Given the description of an element on the screen output the (x, y) to click on. 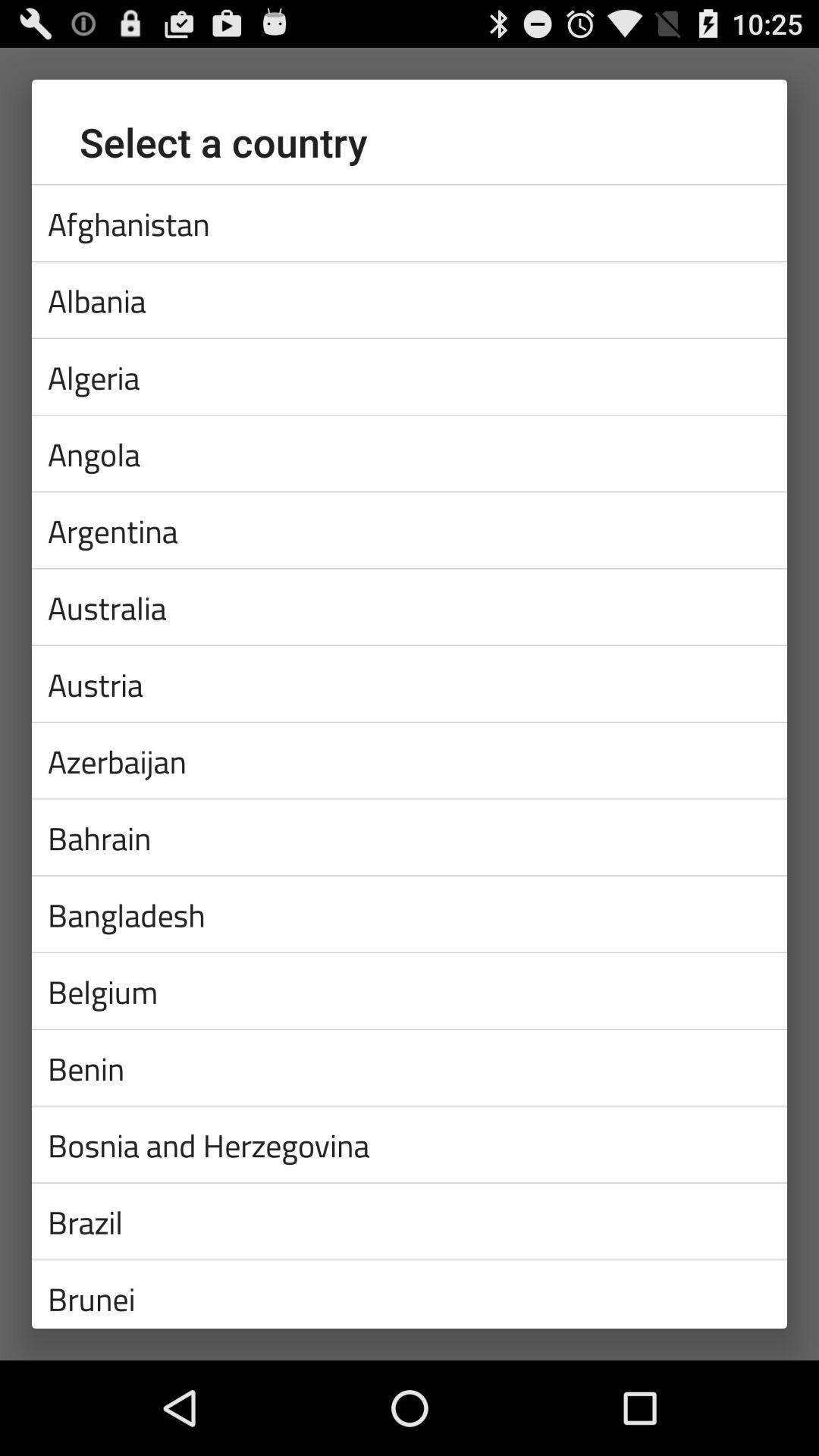
turn off brazil (409, 1221)
